Given the description of an element on the screen output the (x, y) to click on. 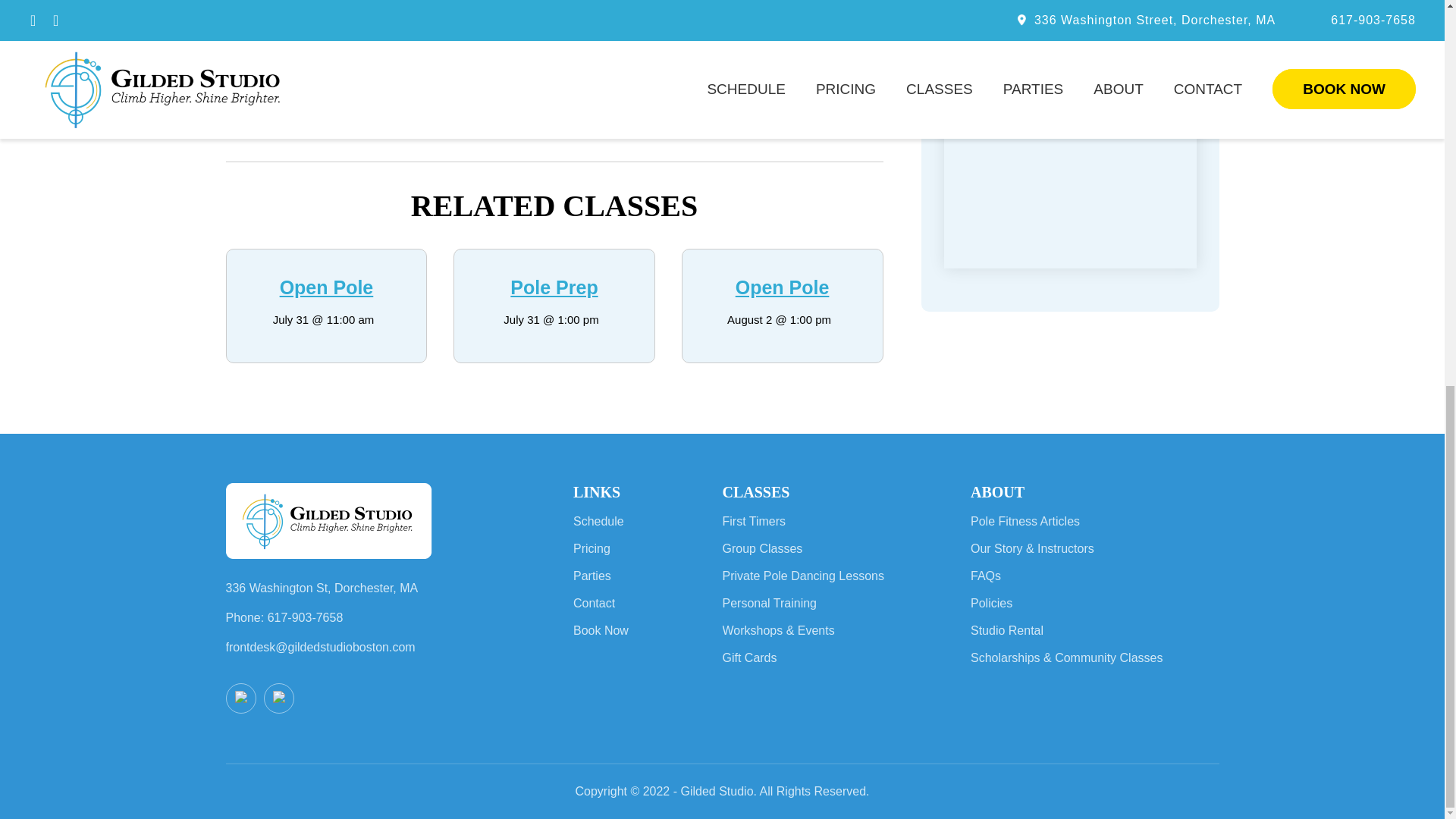
Massachusetts (993, 44)
Click to view a Google Map (1069, 65)
